Given the description of an element on the screen output the (x, y) to click on. 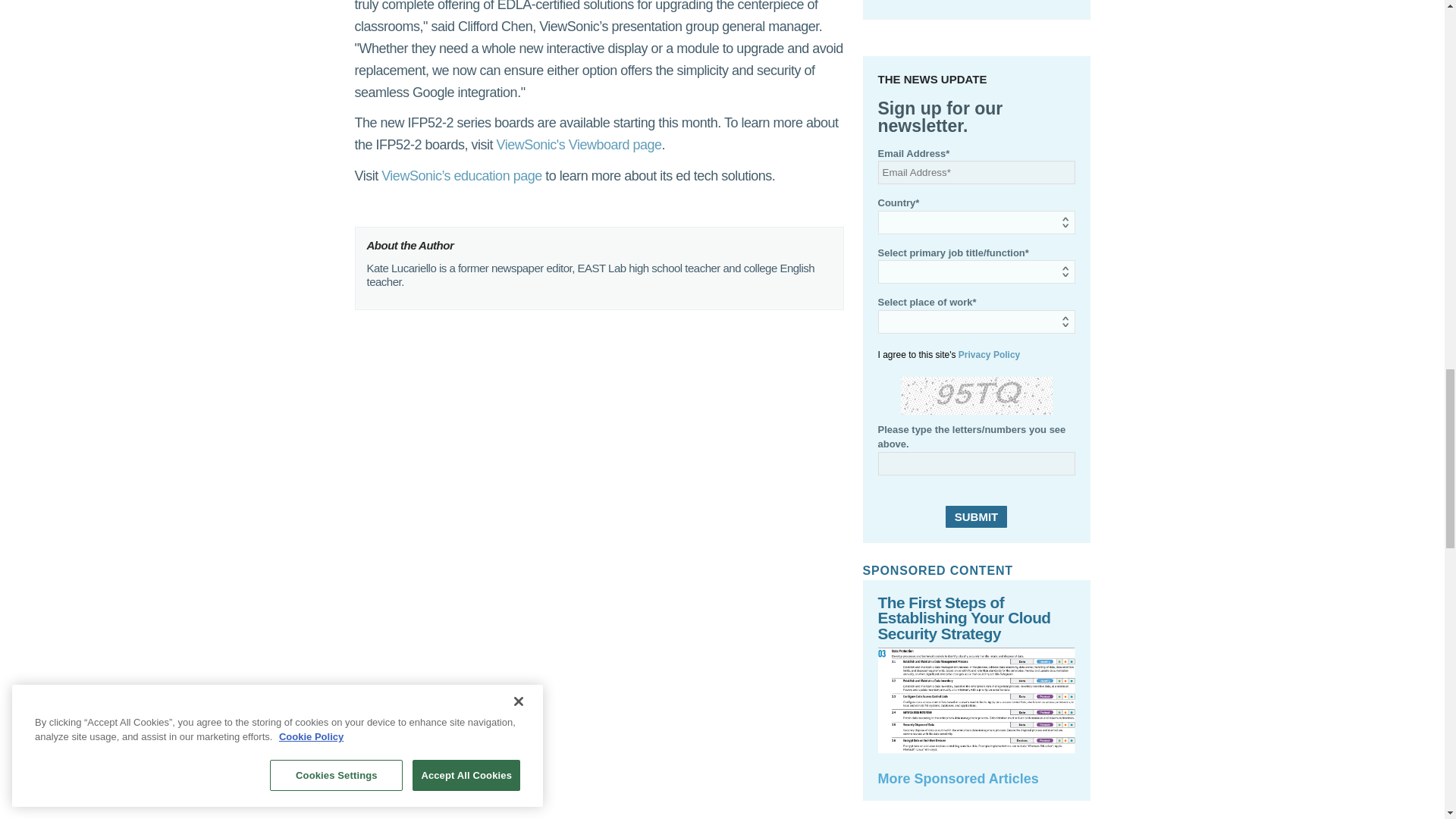
Submit (975, 516)
